Given the description of an element on the screen output the (x, y) to click on. 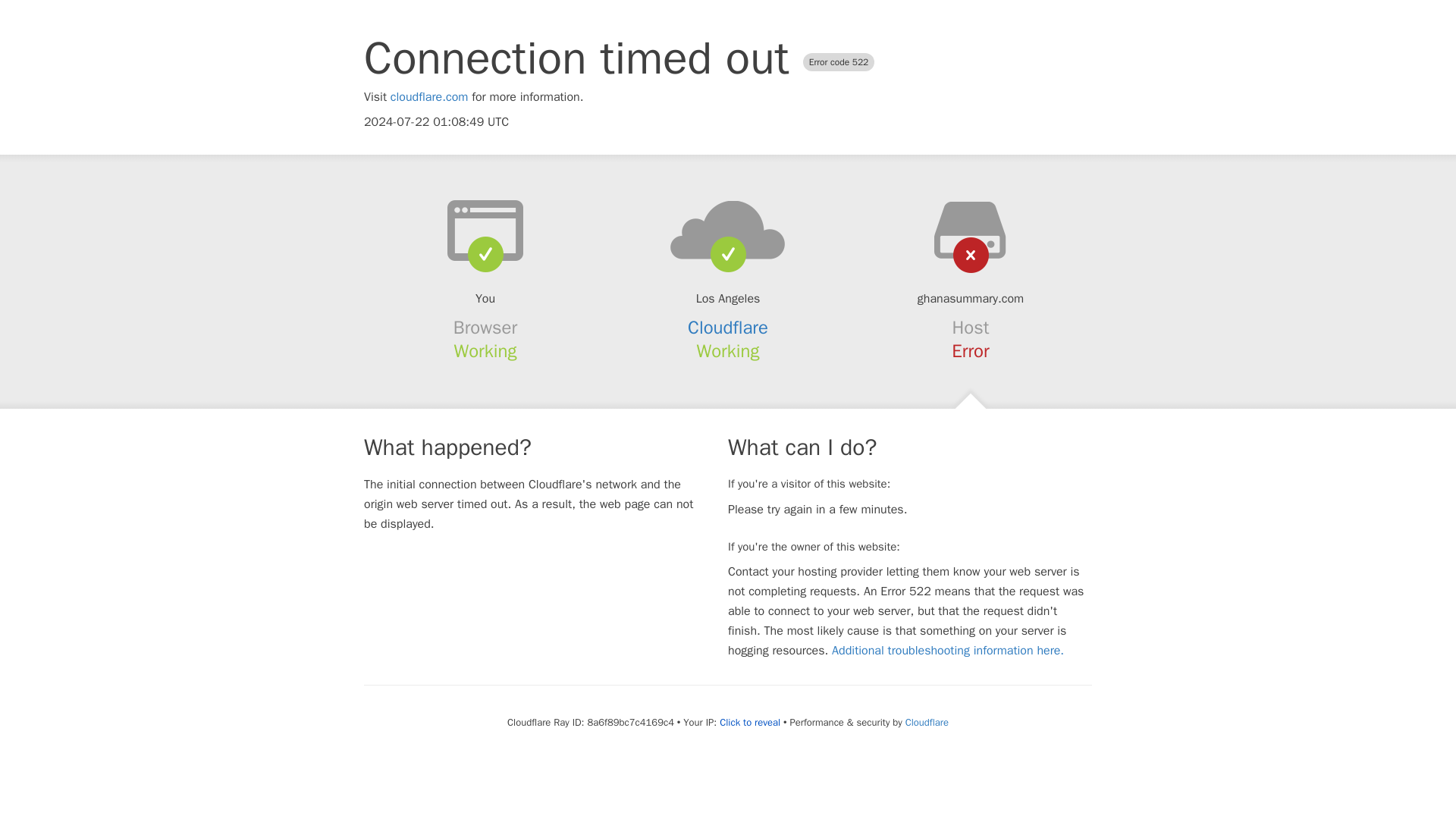
Additional troubleshooting information here. (947, 650)
Cloudflare (927, 721)
cloudflare.com (429, 96)
Cloudflare (727, 327)
Click to reveal (749, 722)
